Given the description of an element on the screen output the (x, y) to click on. 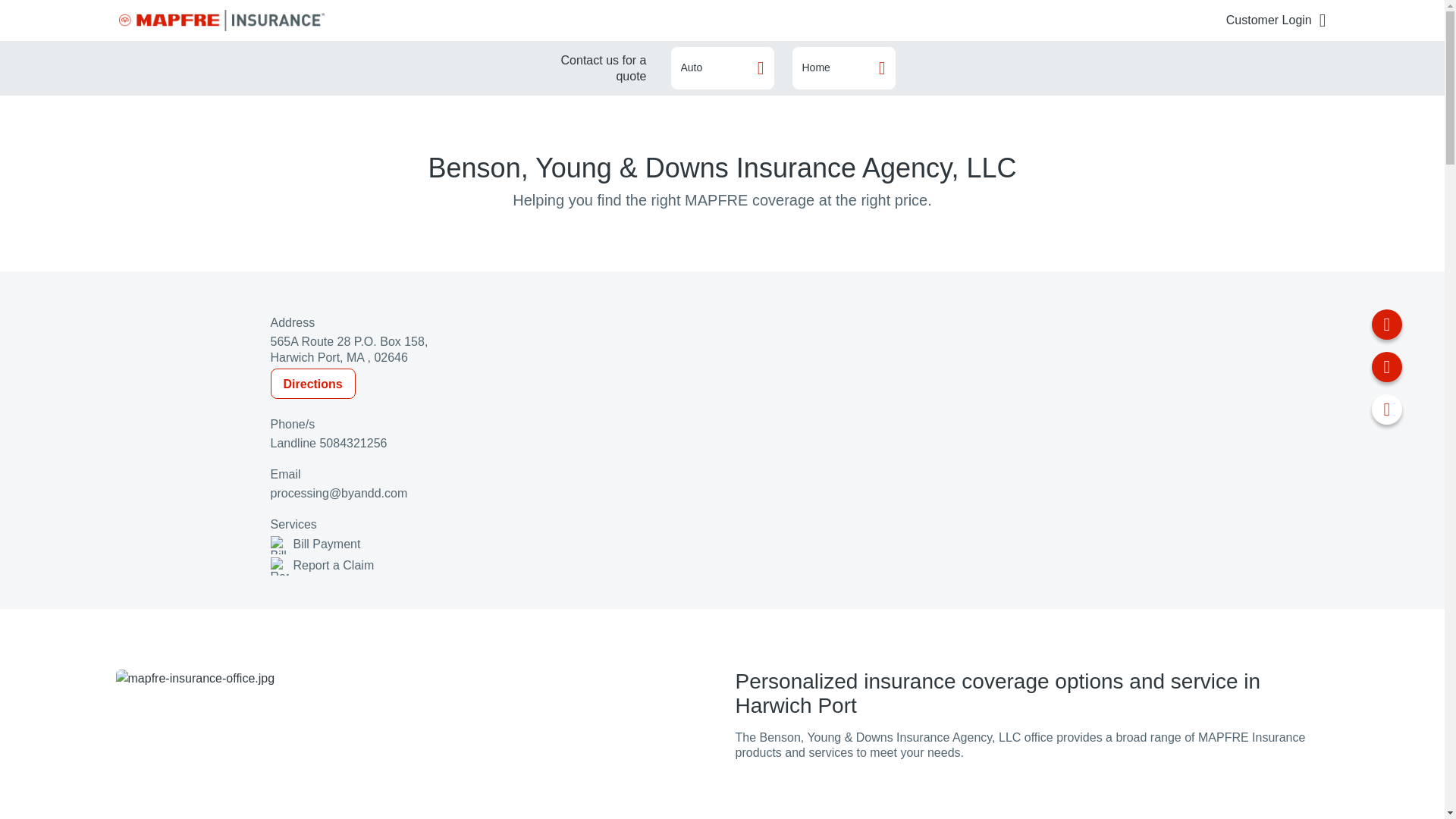
Directions (312, 383)
Phone call (1386, 324)
Home (843, 67)
Location (1386, 409)
Customer Login (1276, 20)
Auto (721, 67)
Email (1386, 367)
